Given the description of an element on the screen output the (x, y) to click on. 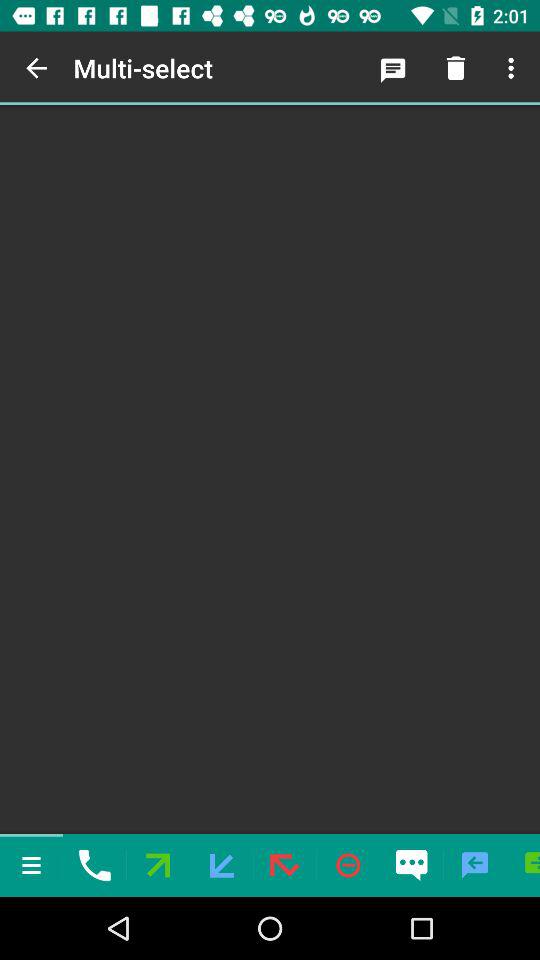
launch item at the center (270, 469)
